Given the description of an element on the screen output the (x, y) to click on. 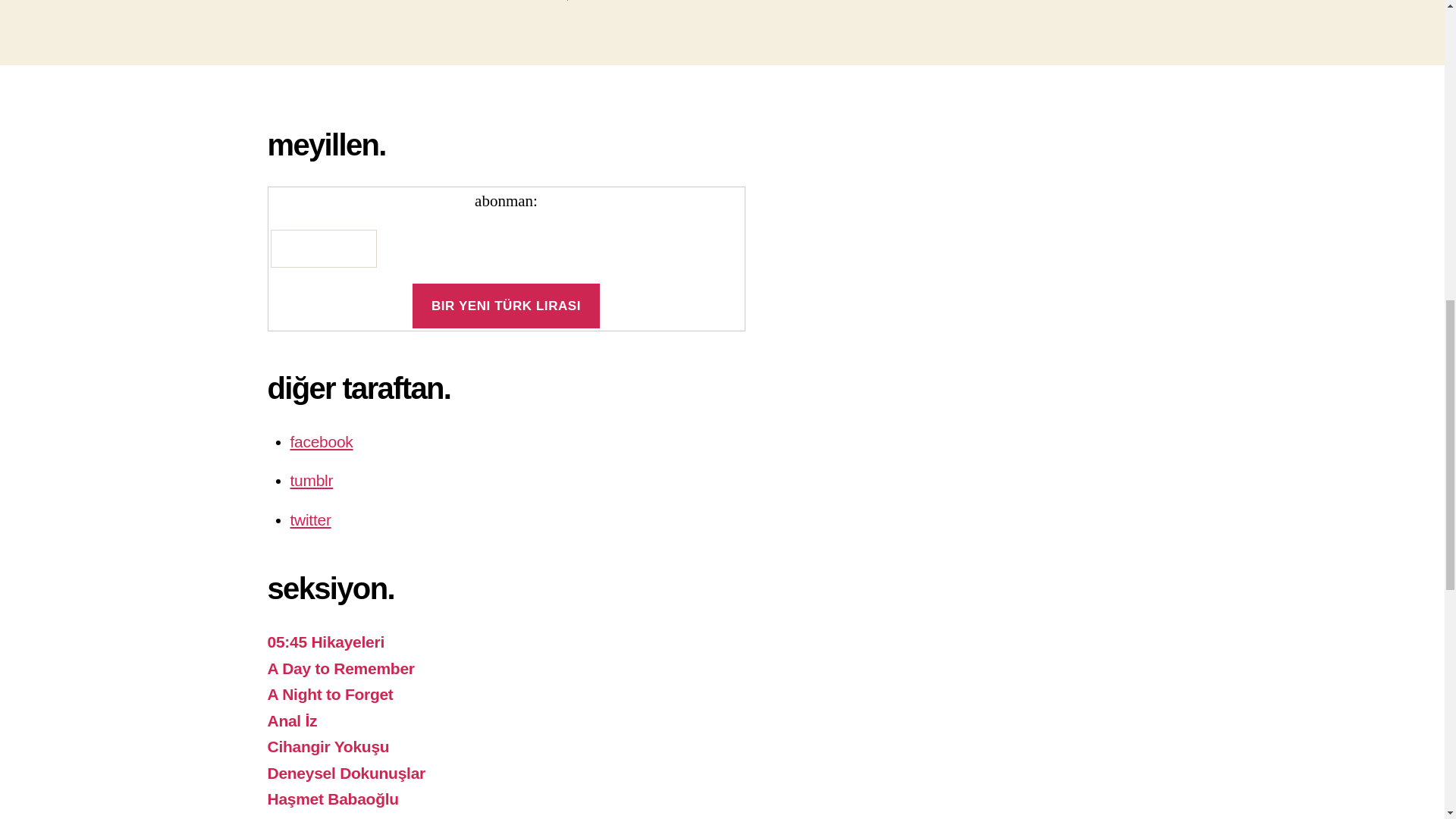
tumblr (311, 479)
twitter (309, 519)
facebook (320, 441)
